Given the description of an element on the screen output the (x, y) to click on. 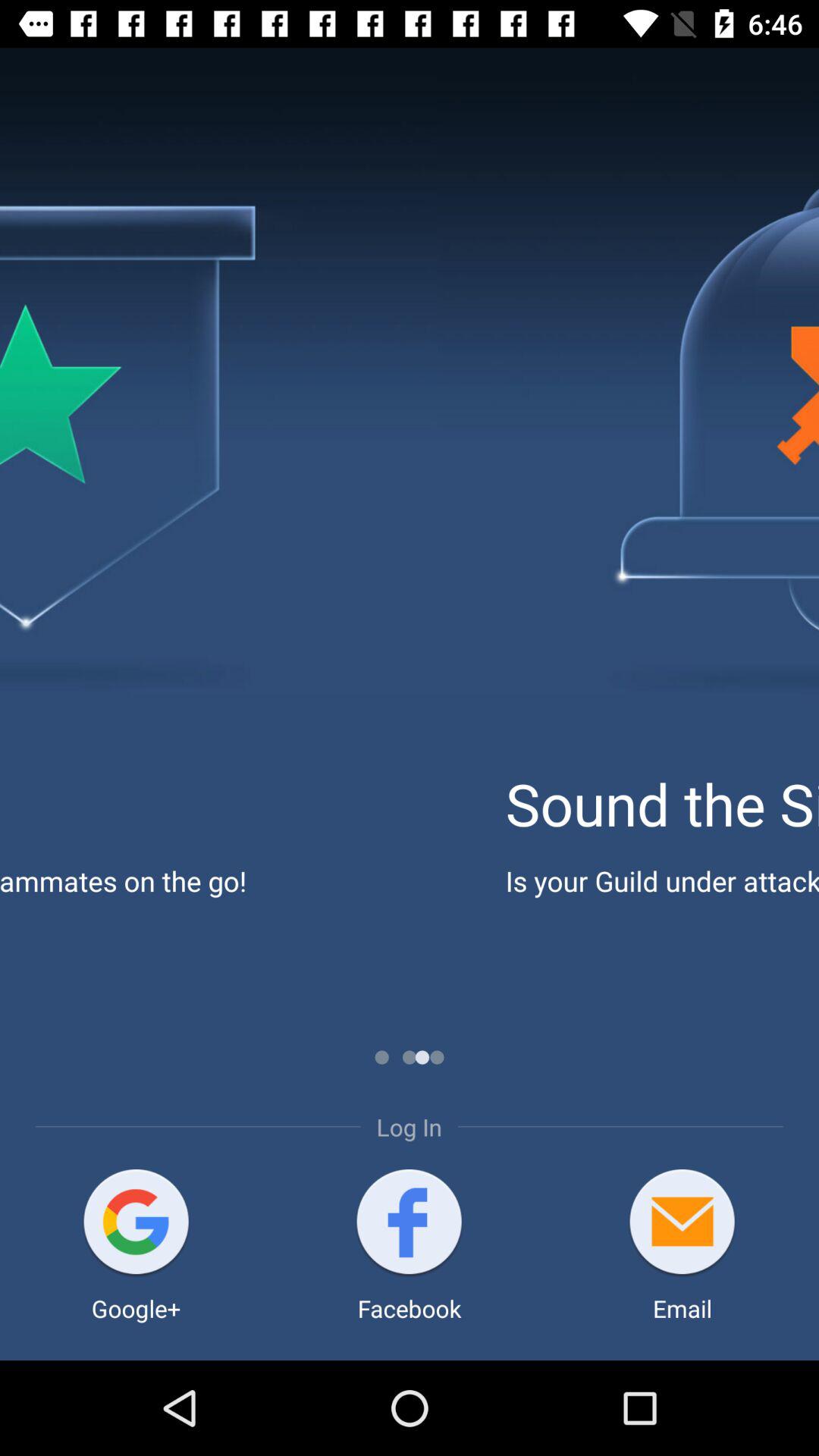
login with your facebook (408, 1223)
